Given the description of an element on the screen output the (x, y) to click on. 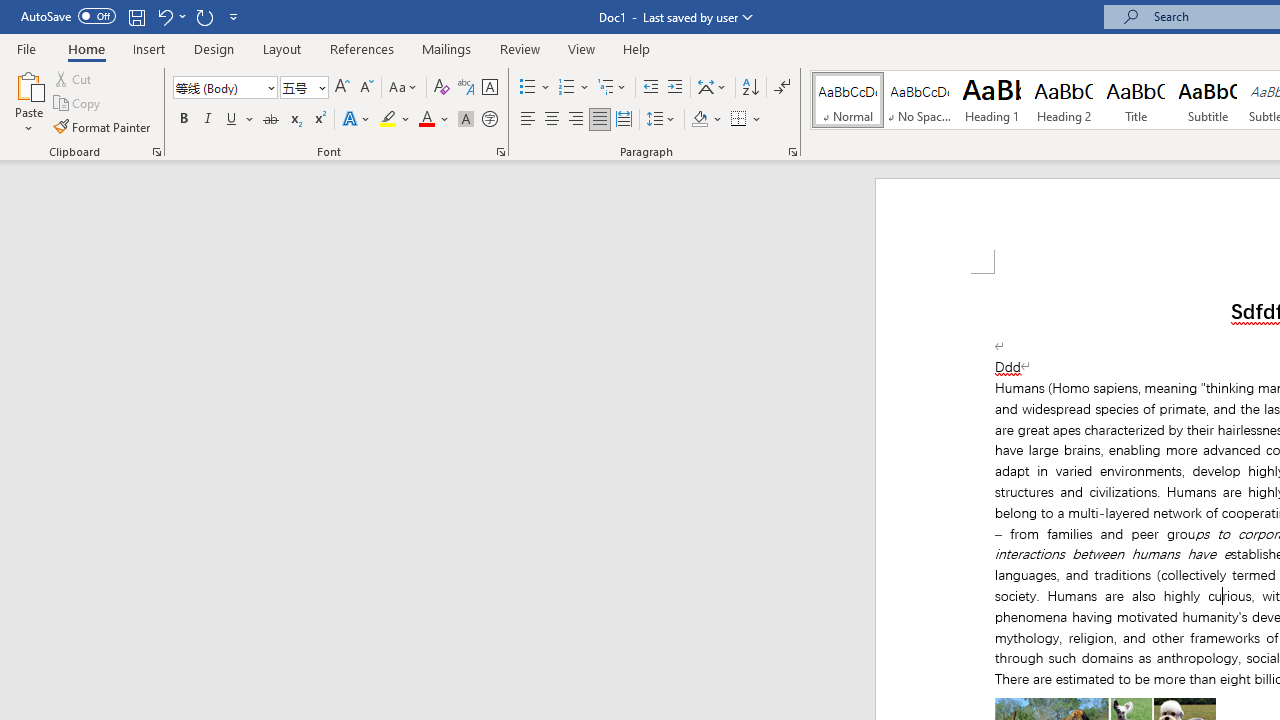
Justify (599, 119)
Heading 1 (991, 100)
Cut (73, 78)
Open (320, 87)
